Given the description of an element on the screen output the (x, y) to click on. 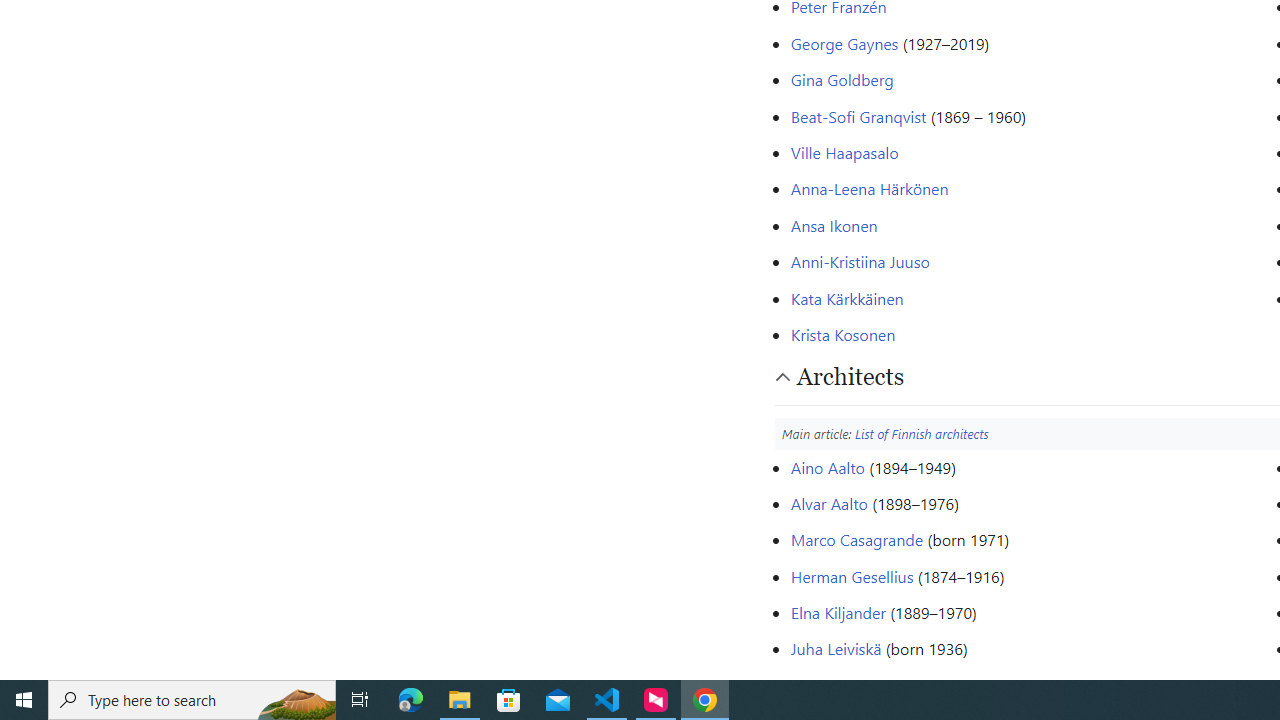
Beat-Sofi Granqvist (857, 115)
